Given the description of an element on the screen output the (x, y) to click on. 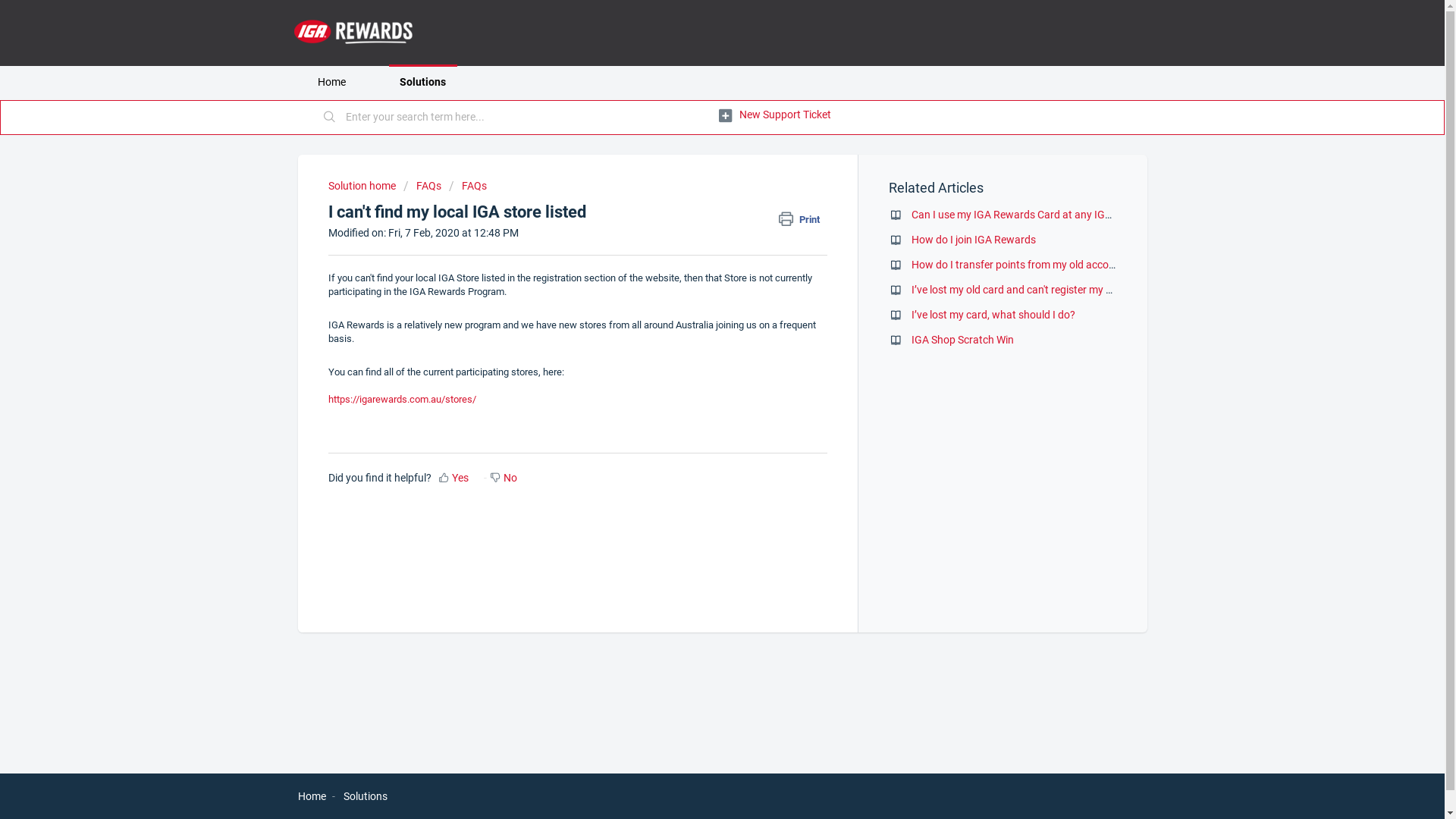
Can I use my IGA Rewards Card at any IGA store? Element type: text (1027, 214)
IGA Shop Scratch Win Element type: text (962, 339)
How do I join IGA Rewards Element type: text (973, 239)
Home Element type: text (331, 82)
Solution home Element type: text (362, 185)
https://igarewards.com.au/stores/ Element type: text (401, 398)
Solutions Element type: text (364, 796)
Print Element type: text (802, 219)
New Support Ticket Element type: text (774, 115)
How do I transfer points from my old account to my new card? Element type: text (1057, 264)
FAQs Element type: text (422, 185)
FAQs Element type: text (467, 185)
Home Element type: text (311, 796)
Solutions Element type: text (422, 82)
